Given the description of an element on the screen output the (x, y) to click on. 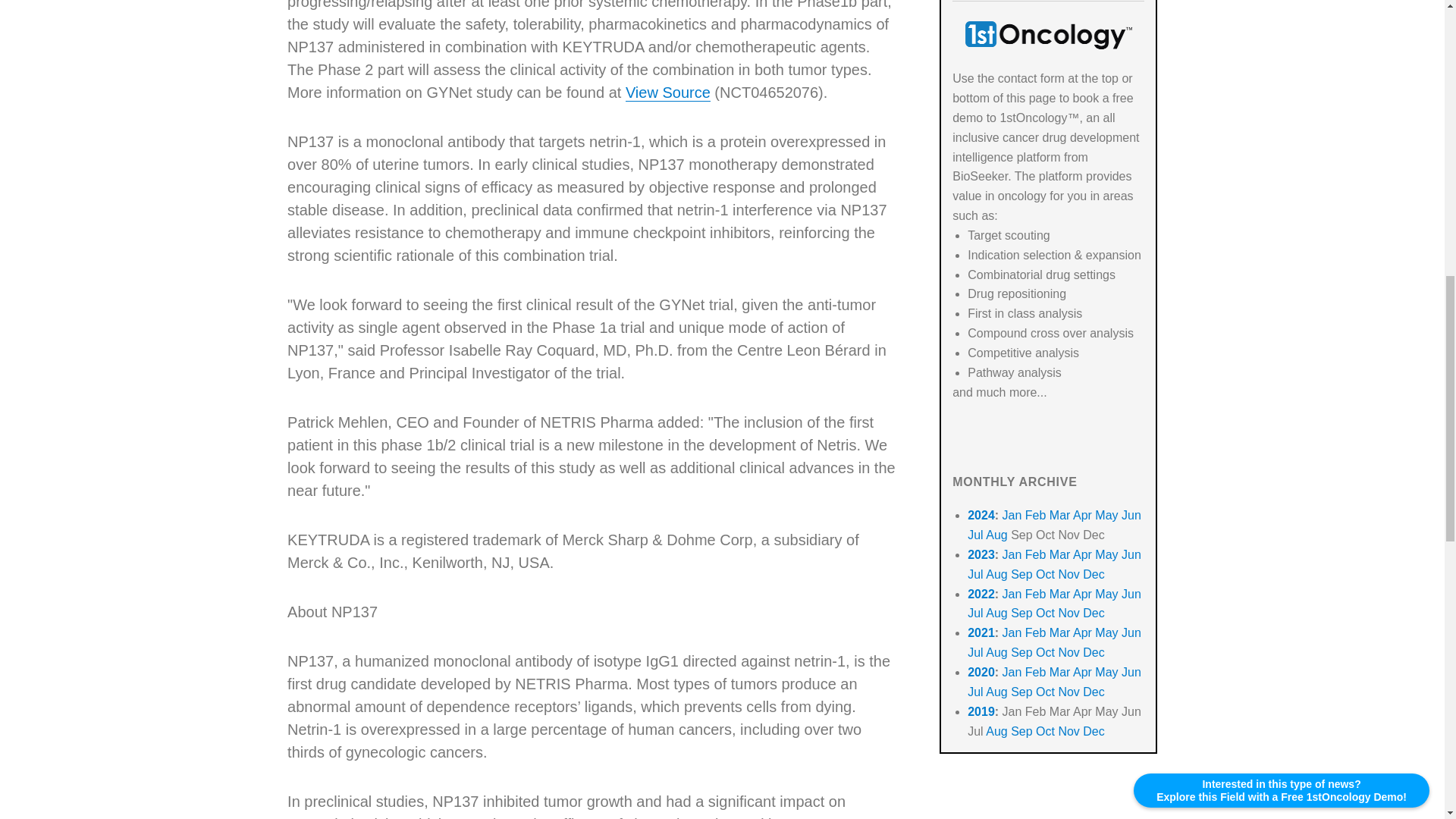
May 2024 (1106, 514)
Apr (1082, 554)
April 2024 (1082, 514)
Jun (1131, 554)
Jun (1131, 514)
2023 (981, 554)
Feb (1035, 554)
Jul (975, 534)
Aug (996, 534)
Jul (975, 574)
2024 (981, 514)
March 2024 (1059, 514)
January 2024 (1012, 514)
View Source (668, 92)
Jan (1012, 554)
